Given the description of an element on the screen output the (x, y) to click on. 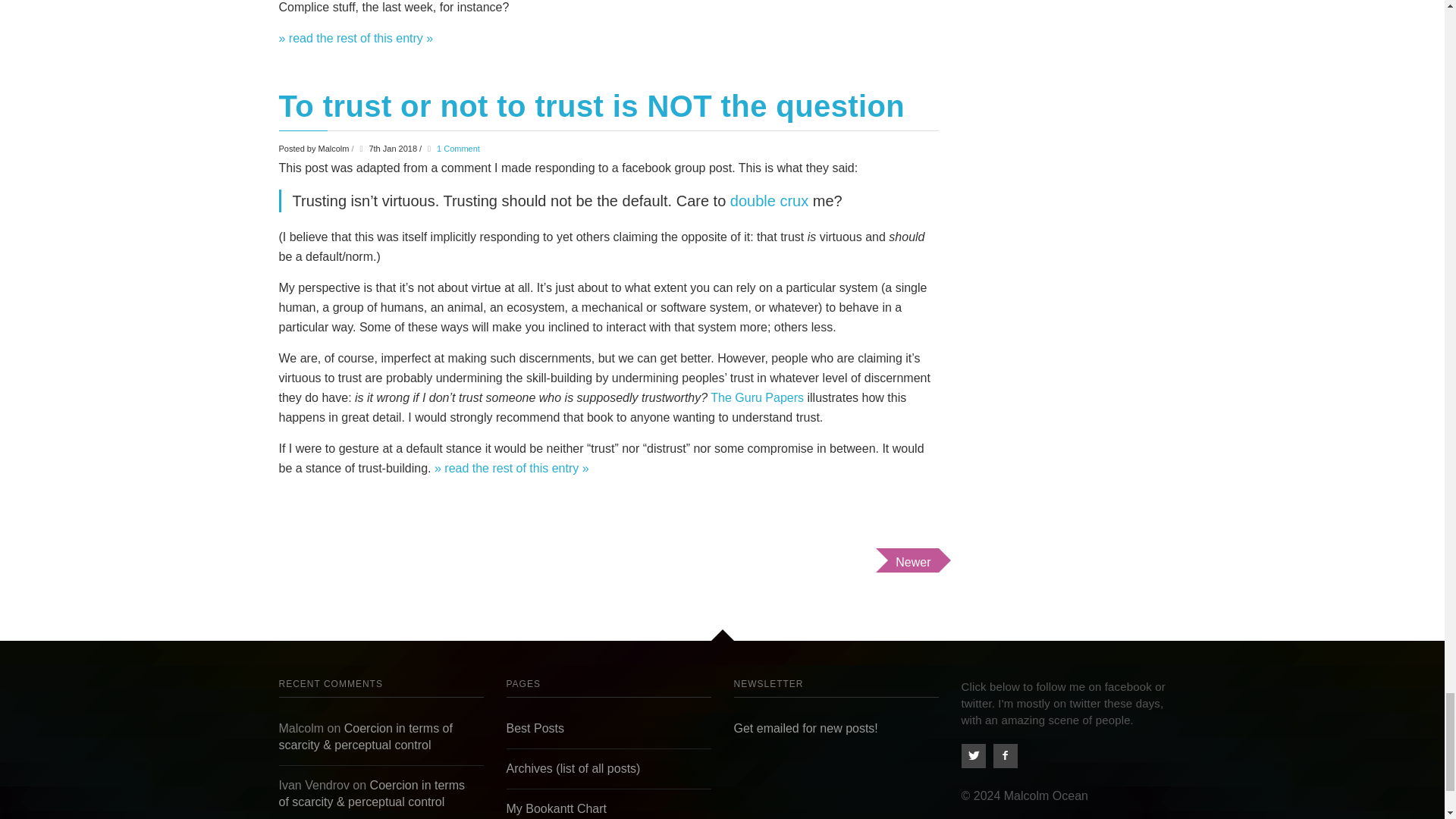
1 Comment (458, 148)
